Given the description of an element on the screen output the (x, y) to click on. 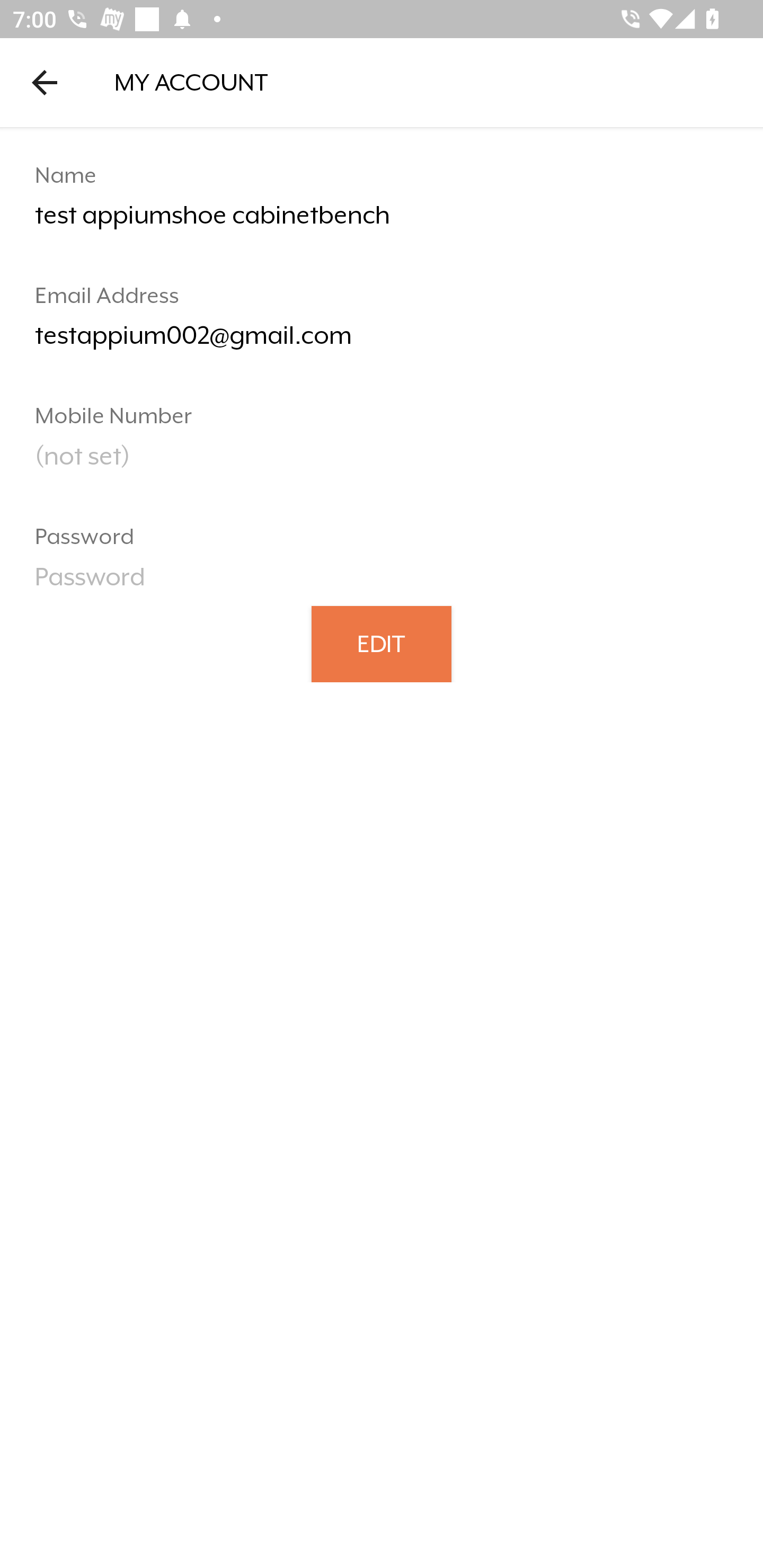
Navigate up (44, 82)
test appiumshoe cabinetbench (381, 222)
testappium002@gmail.com (381, 342)
Password (381, 583)
EDIT (381, 643)
